Given the description of an element on the screen output the (x, y) to click on. 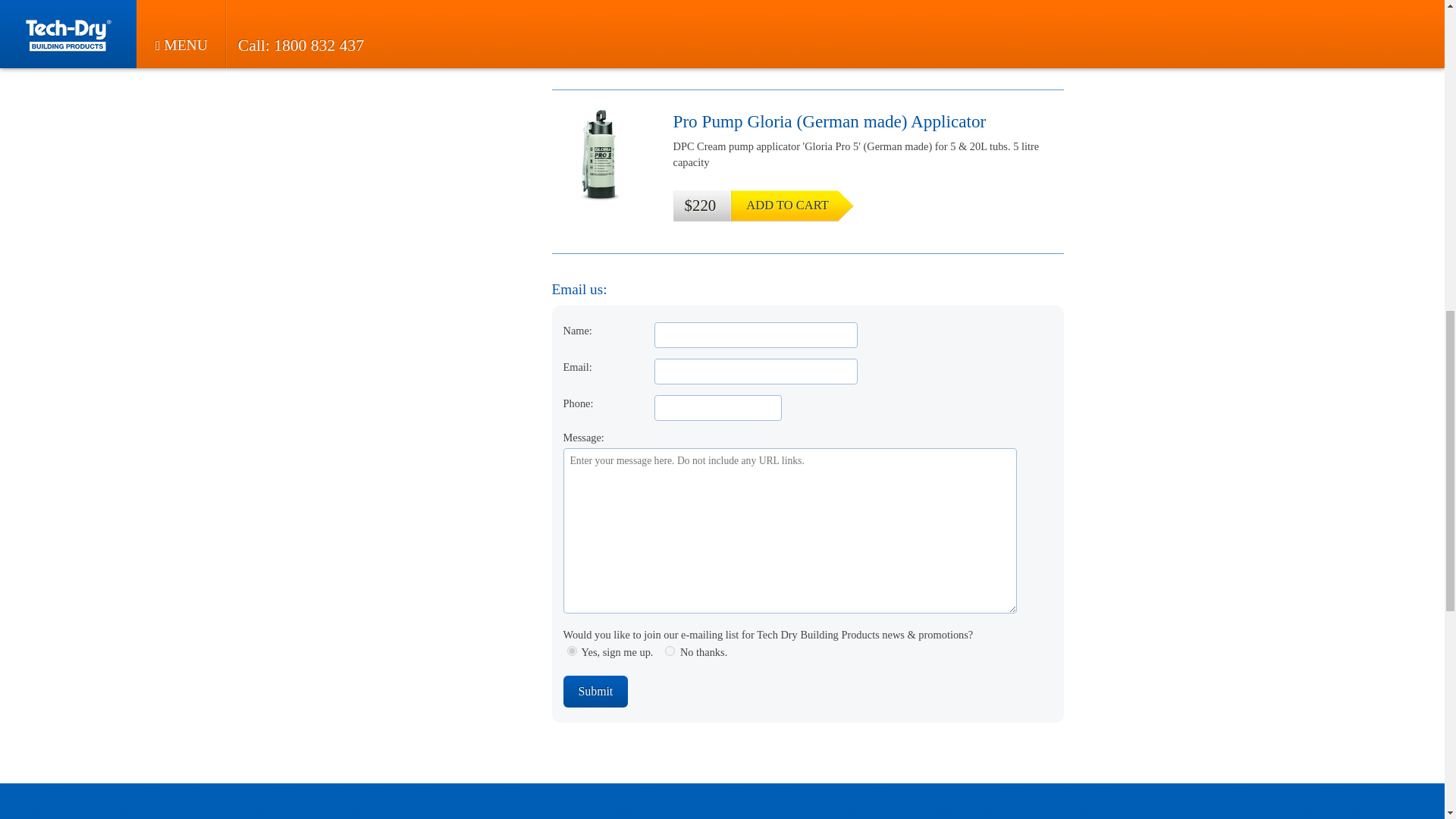
Submit (594, 691)
yes (571, 651)
no (670, 651)
